Given the description of an element on the screen output the (x, y) to click on. 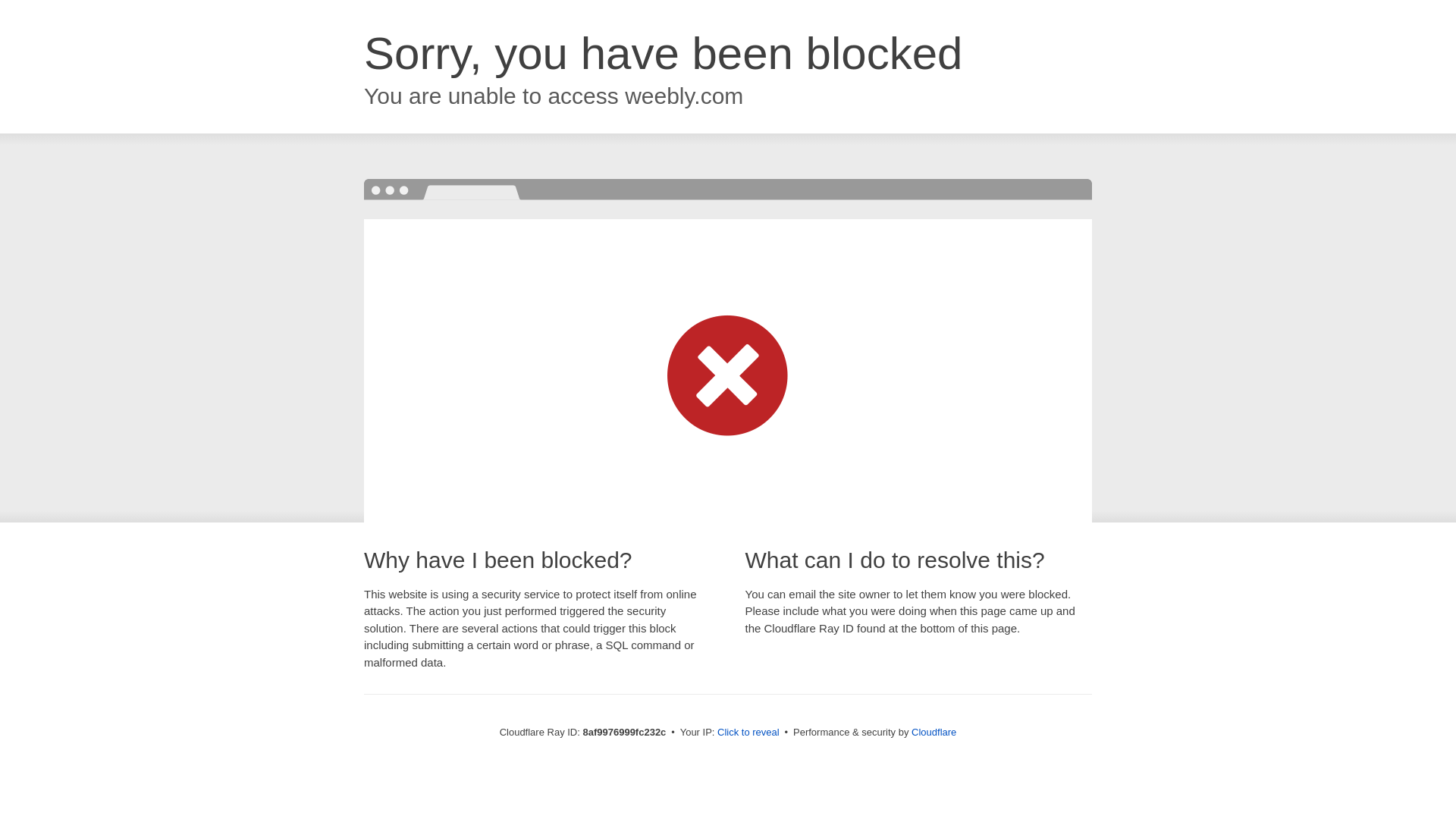
Click to reveal (747, 732)
Cloudflare (933, 731)
